Given the description of an element on the screen output the (x, y) to click on. 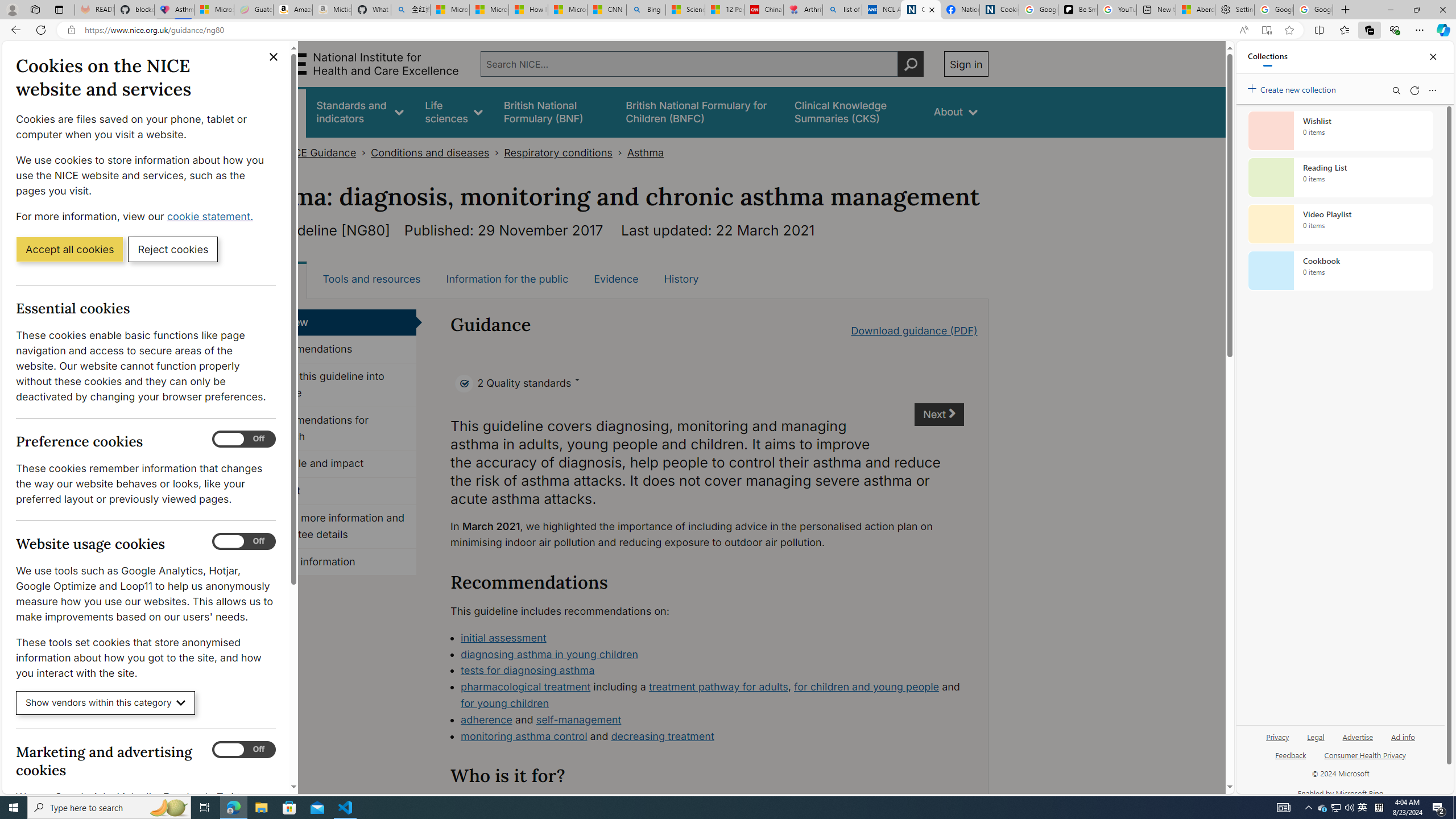
pharmacological treatment (525, 686)
Context (333, 491)
treatment pathway for adults (717, 686)
self-management (578, 719)
Video Playlist collection, 0 items (1339, 223)
Recommendations for research (333, 428)
